Given the description of an element on the screen output the (x, y) to click on. 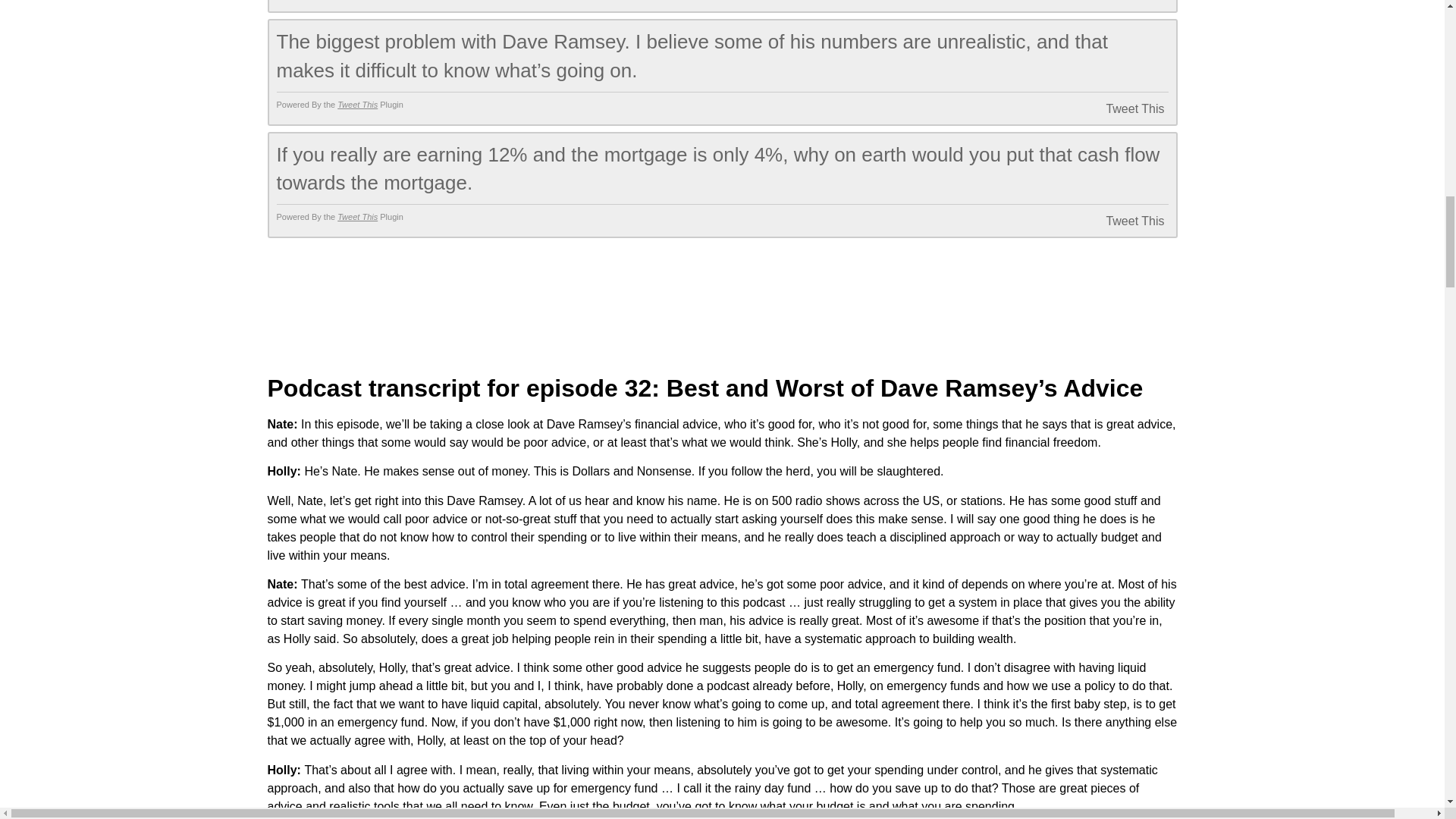
Tweet This (357, 103)
Tweet This (1114, 220)
Tweet This (1114, 108)
Tweet This (357, 216)
Tweet This (1114, 1)
